Given the description of an element on the screen output the (x, y) to click on. 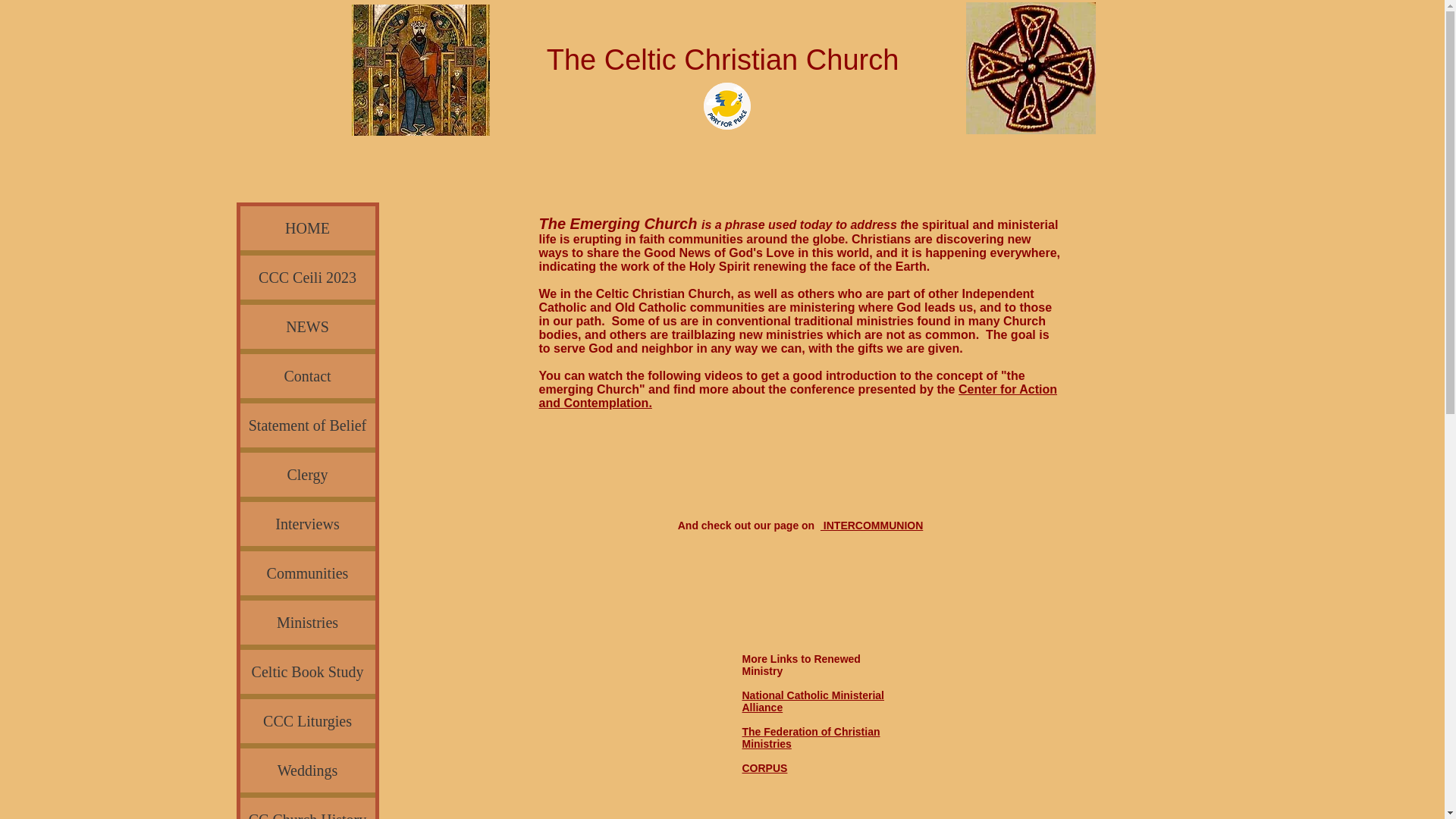
CORPUS (764, 767)
Weddings (307, 770)
NEWS (307, 326)
Center for Action and Contemplation. (797, 396)
Ministries (307, 622)
Contact (307, 375)
Clergy (307, 474)
National Catholic Ministerial Alliance (812, 701)
CCC Ceili 2023 (307, 277)
CCC Liturgies (307, 720)
CC Church History (307, 808)
The Federation of Christian Ministries (810, 737)
HOME (307, 228)
Interviews (307, 524)
Celtic Book Study (307, 671)
